Given the description of an element on the screen output the (x, y) to click on. 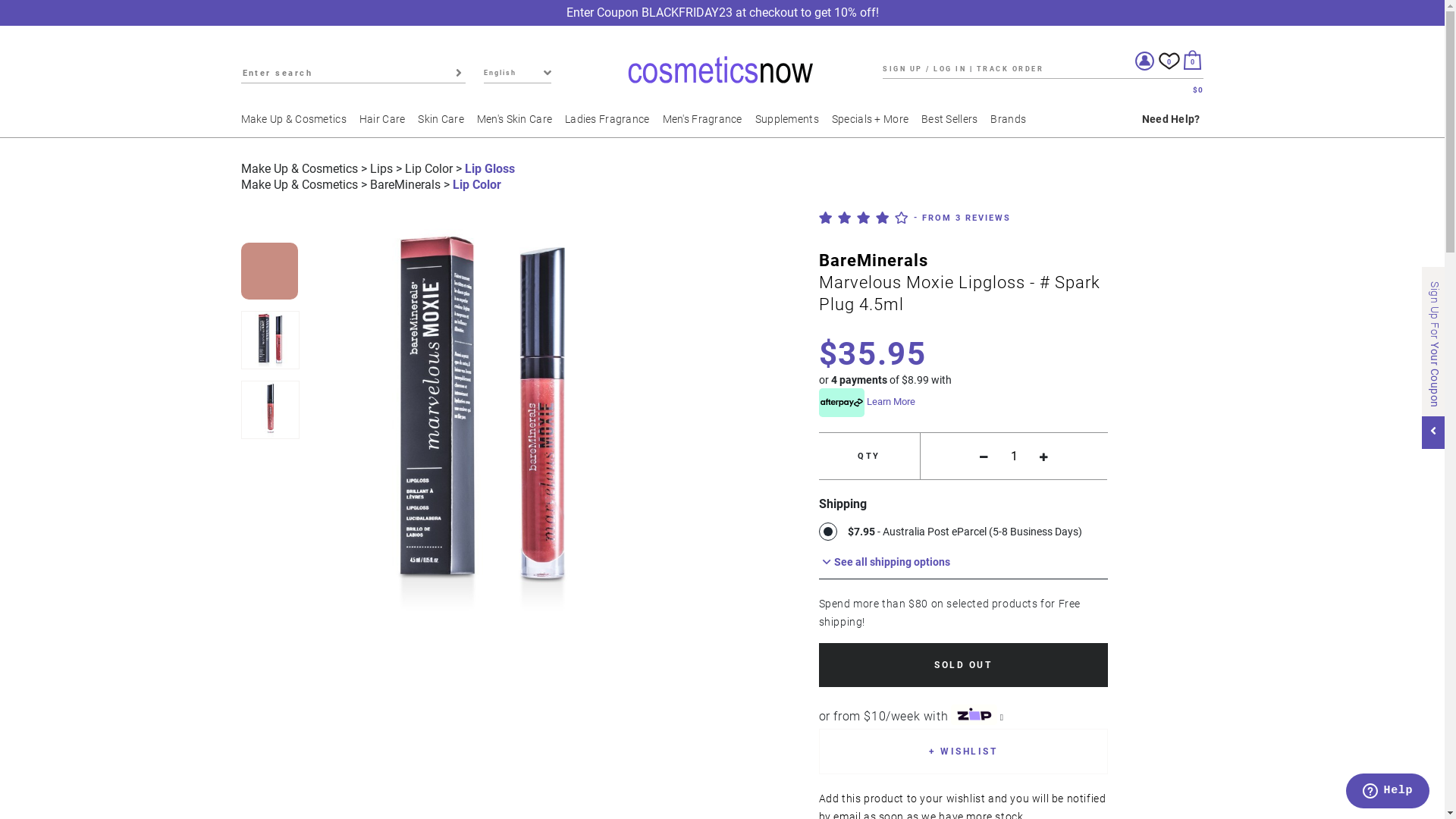
Hair Care Element type: text (386, 124)
Make Up & Cosmetics Element type: text (299, 184)
Need Help? Element type: text (1171, 124)
See all shipping options Element type: text (963, 561)
TRACK ORDER Element type: text (1010, 68)
Brands Element type: text (1012, 124)
Lip Gloss Element type: text (489, 168)
Make Up & Cosmetics Element type: text (298, 124)
Best Sellers Element type: text (953, 124)
Lips Element type: text (381, 168)
SIGN UP / LOG IN Element type: text (924, 68)
Make Up & Cosmetics Element type: text (299, 168)
FROM 3 REVIEWS Element type: text (961, 217)
BareMinerals Element type: text (873, 260)
Opens a widget where you can find more information Element type: hover (1387, 792)
Skin Care Element type: text (445, 124)
Ladies Fragrance Element type: text (611, 124)
Lip Color Element type: text (475, 184)
Supplements Element type: text (791, 124)
Lip Color Element type: text (428, 168)
Men's Fragrance Element type: text (706, 124)
Learn More Element type: text (890, 401)
BareMinerals Element type: text (405, 184)
Specials + More Element type: text (874, 124)
Marvelous Moxie Lipgloss - # Spark Plug 4.5ml Element type: hover (481, 417)
+ WISHLIST Element type: text (963, 751)
Men's Skin Care Element type: text (518, 124)
